Given the description of an element on the screen output the (x, y) to click on. 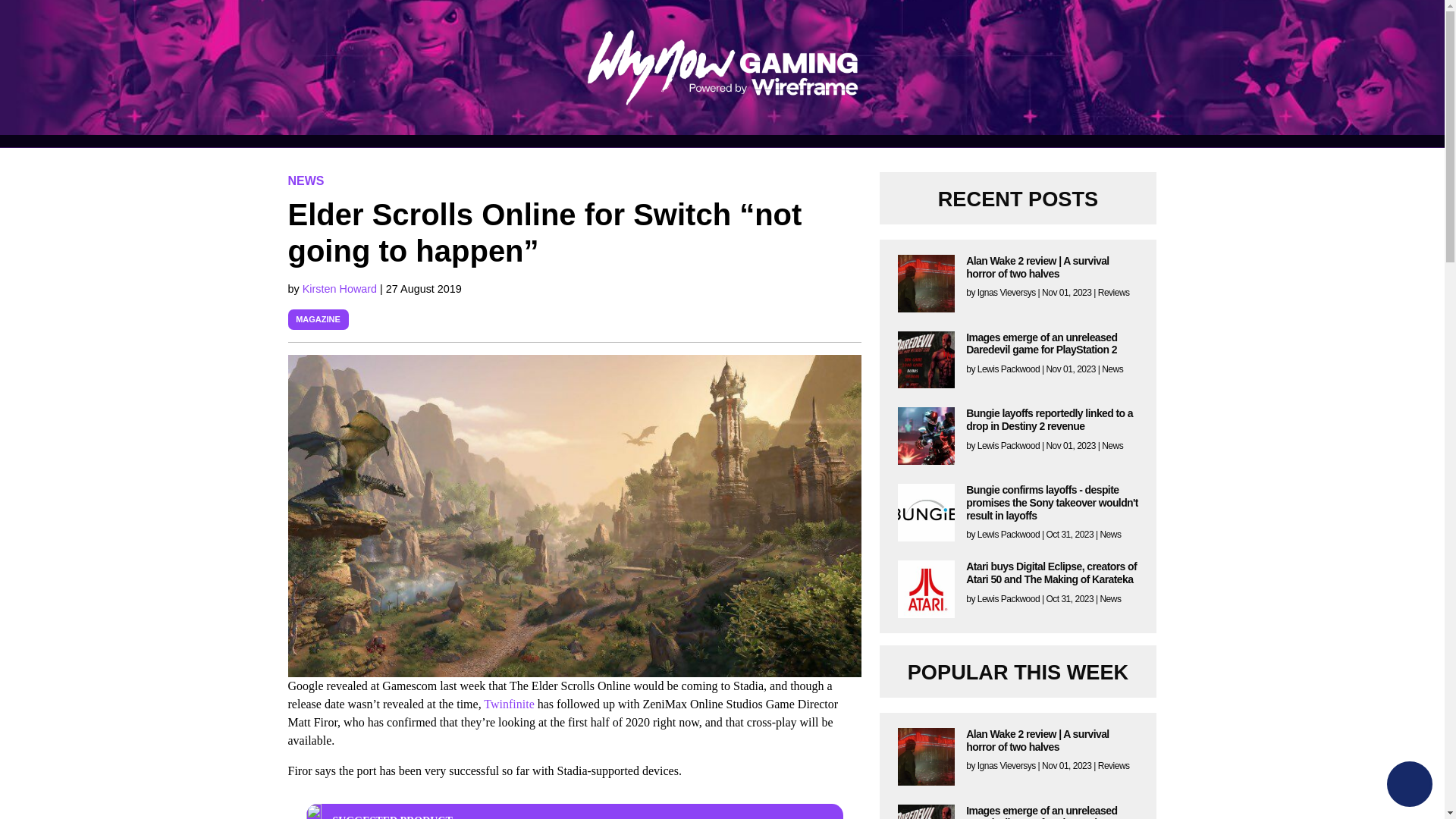
magazine (317, 318)
Reviews (1113, 765)
NEWS (306, 180)
Lewis Packwood (1007, 445)
News (1112, 445)
Lewis Packwood (1007, 534)
Twinfinite (508, 703)
Kirsten Howard (341, 288)
News (1110, 534)
